Given the description of an element on the screen output the (x, y) to click on. 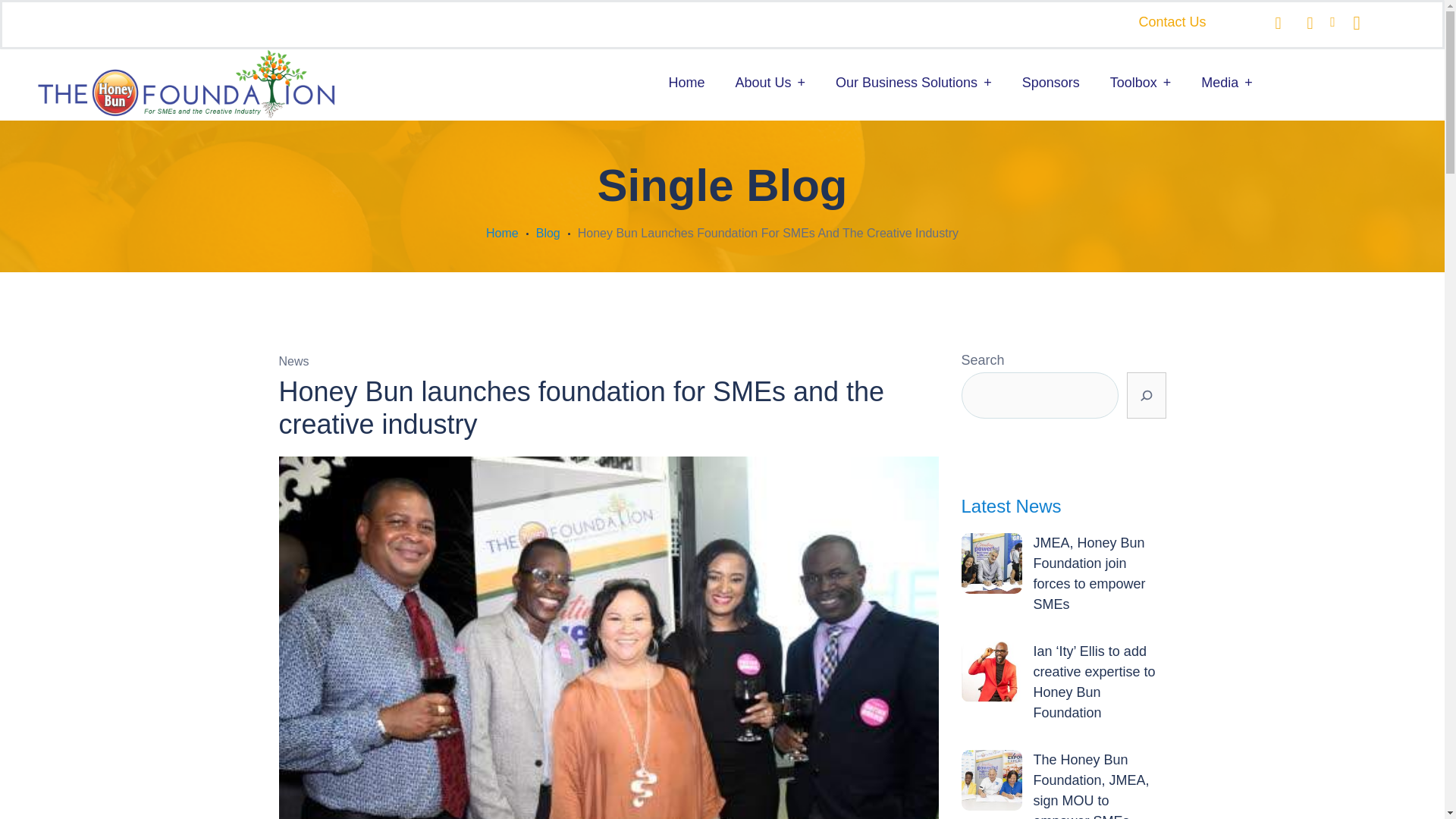
Our Business Solutions (913, 82)
About Us (770, 82)
Toolbox (1140, 82)
Sponsors (1051, 82)
Home (686, 82)
Contact Us (1171, 21)
Media (1226, 82)
